Given the description of an element on the screen output the (x, y) to click on. 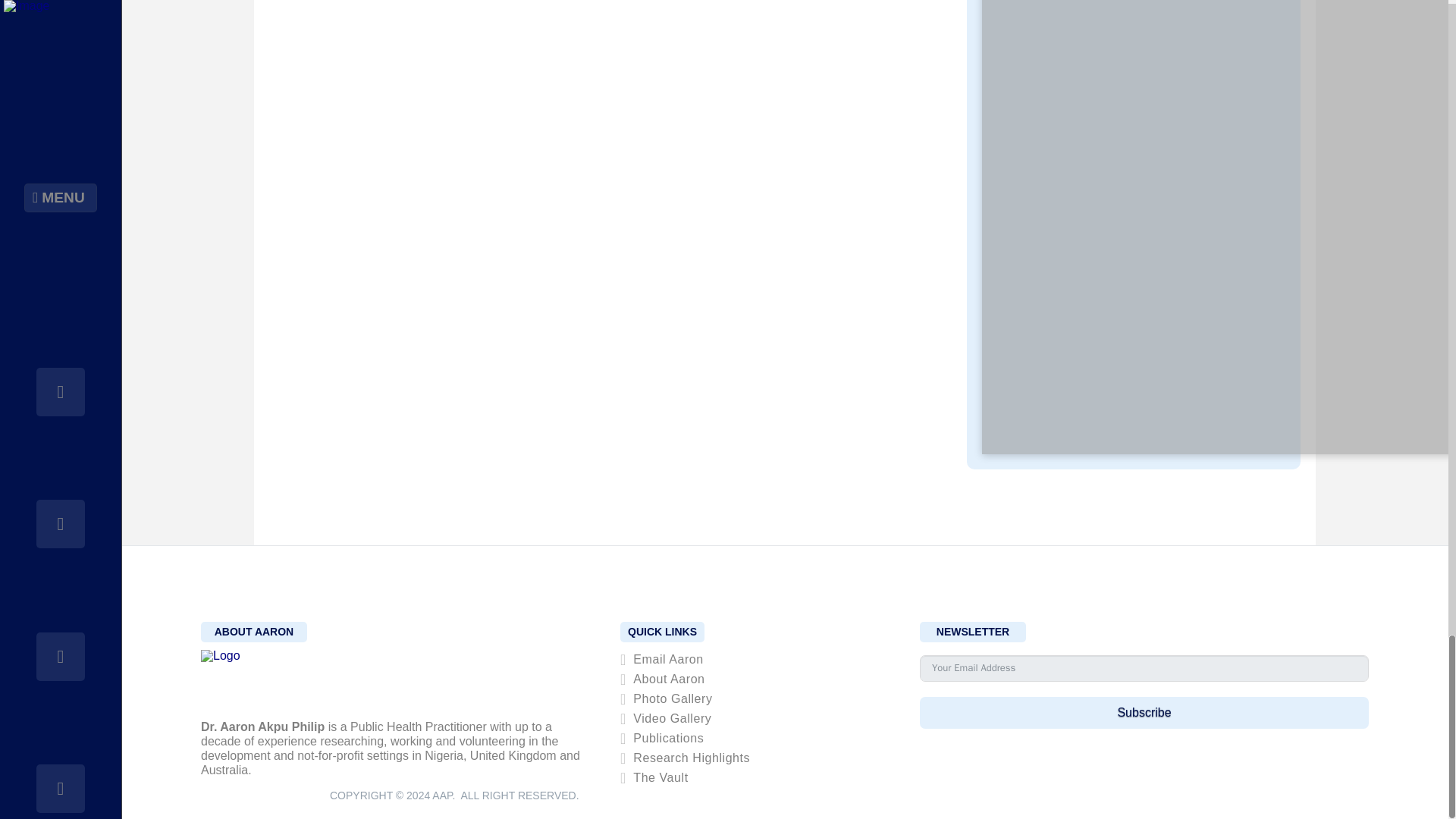
Publications (663, 738)
Research Highlights (687, 758)
Subscribe (1144, 712)
Video Gallery (667, 718)
Photo Gallery (668, 699)
About Aaron (663, 679)
Email Aaron (663, 659)
The Vault (655, 777)
